Given the description of an element on the screen output the (x, y) to click on. 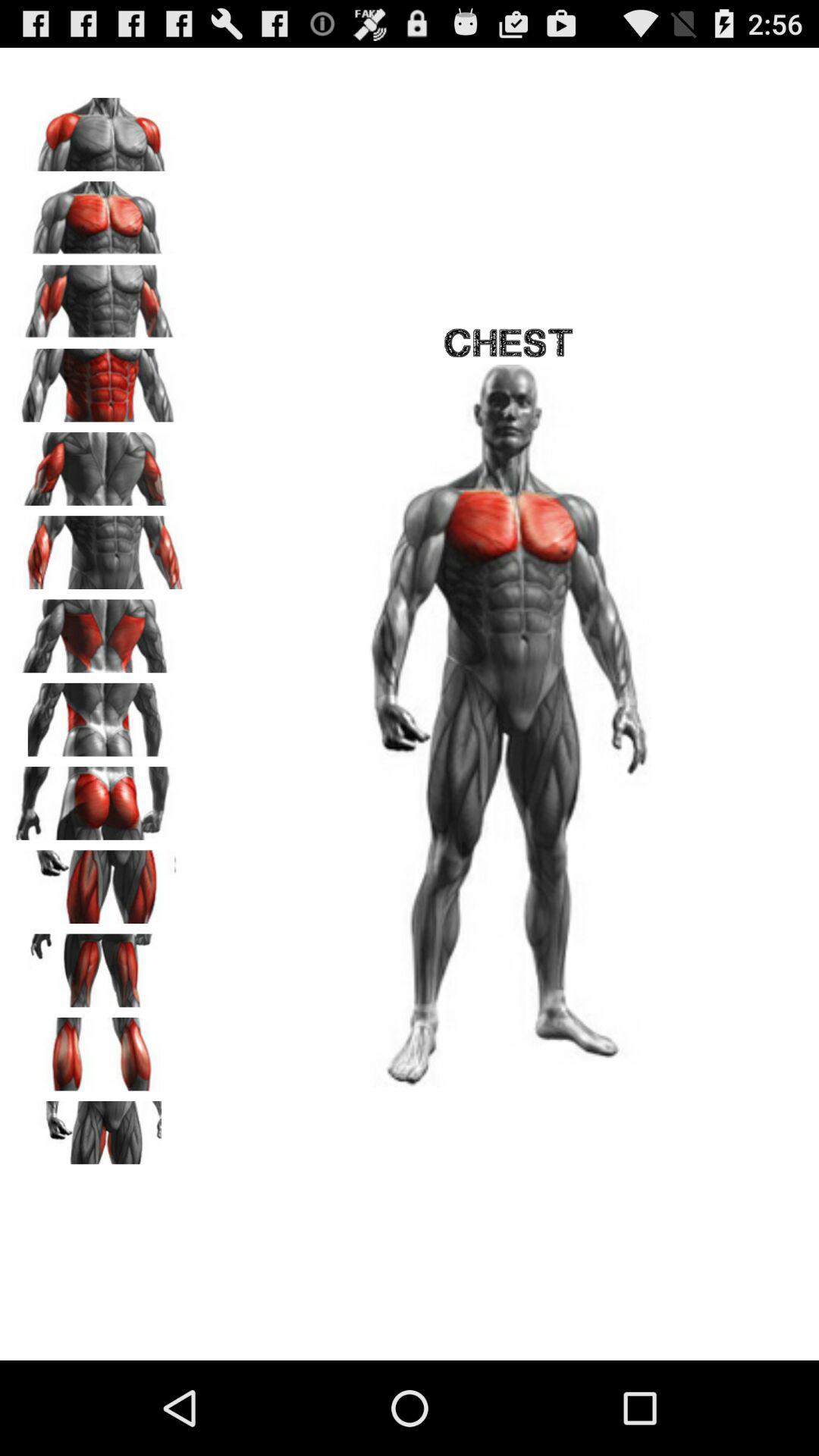
display muscles being used on lower arms and abdomen (99, 547)
